Given the description of an element on the screen output the (x, y) to click on. 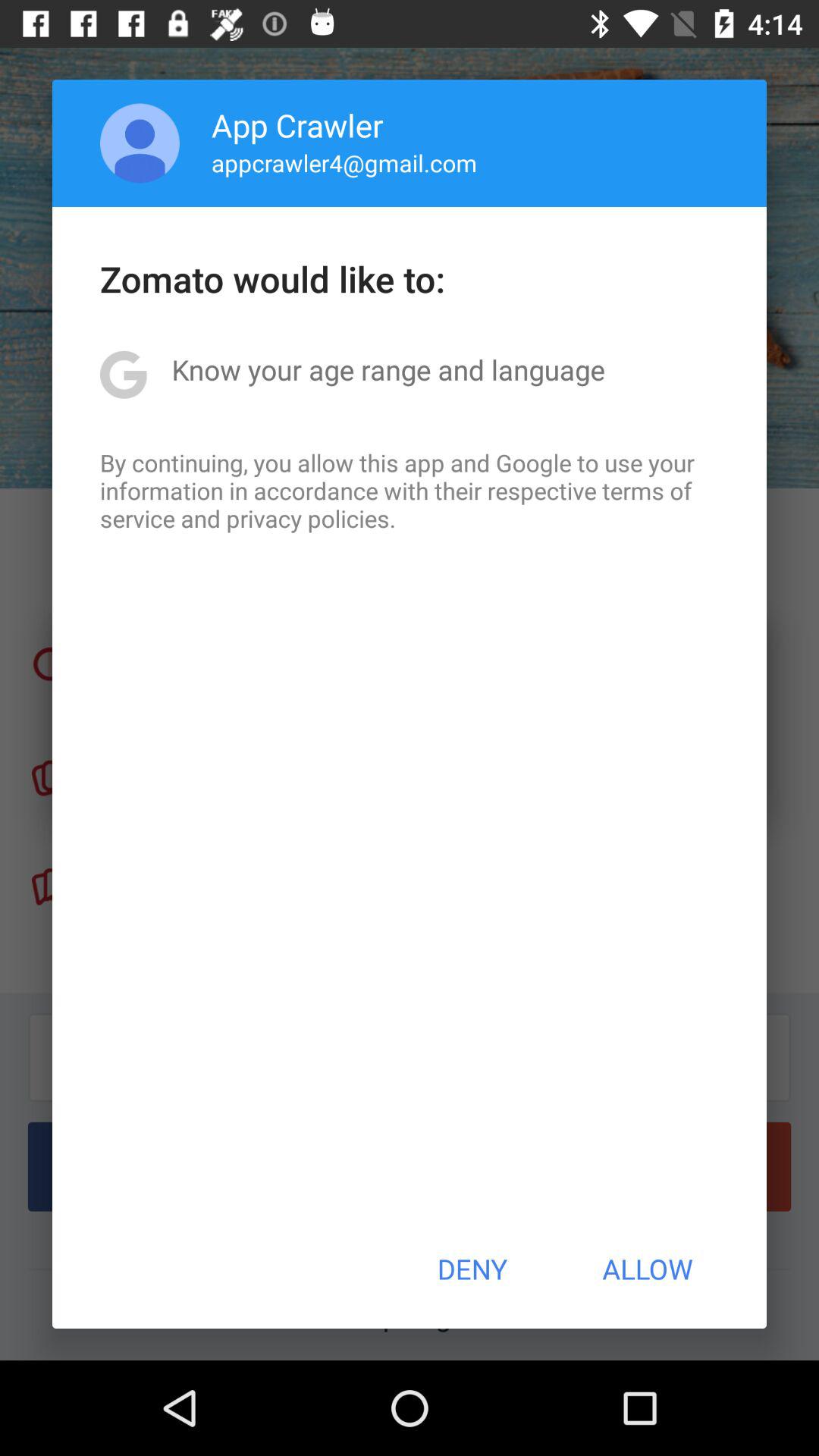
scroll until app crawler app (297, 124)
